Given the description of an element on the screen output the (x, y) to click on. 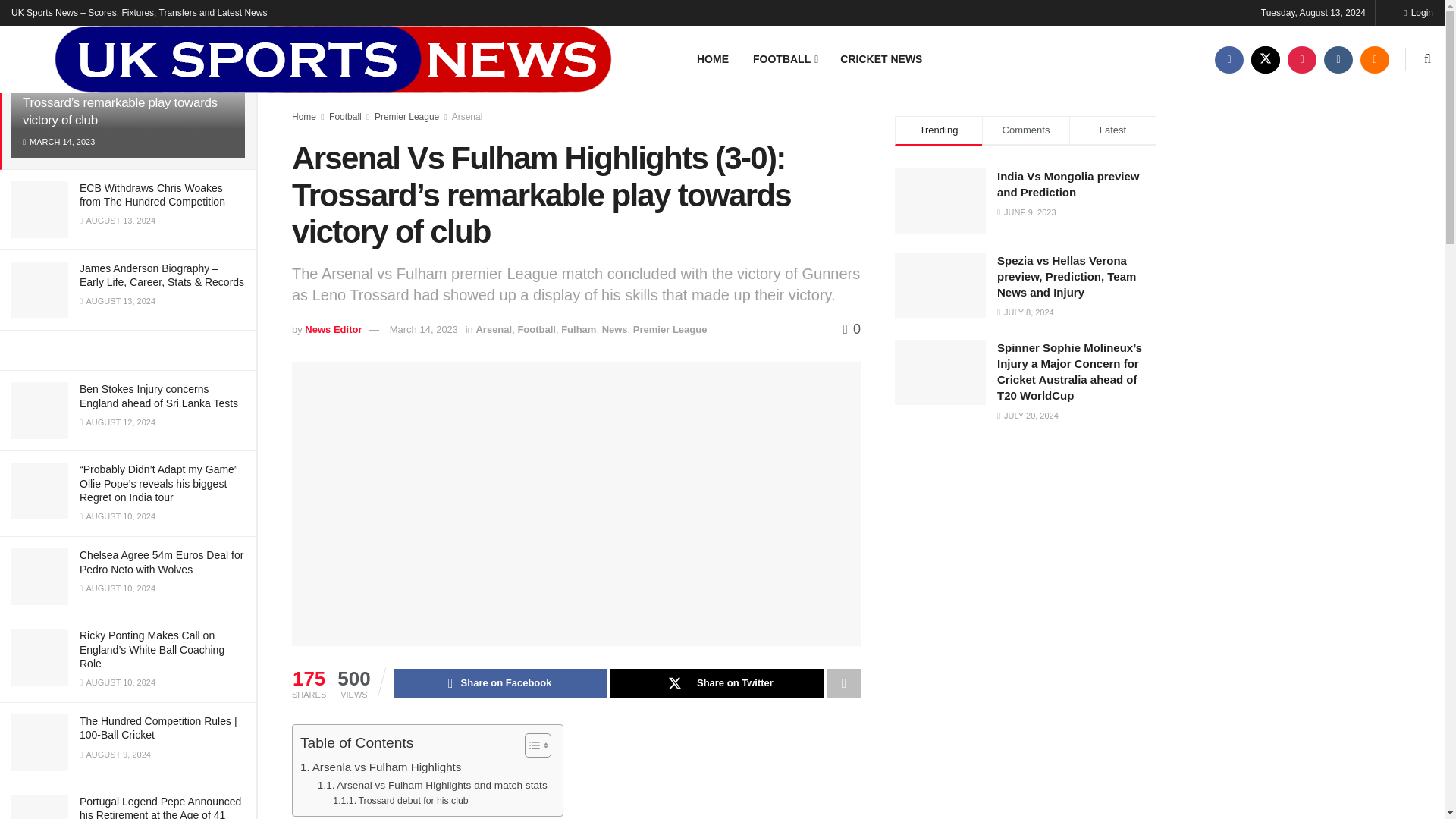
Filter (227, 13)
FOOTBALL (784, 58)
Arsenla vs Fulham Highlights (380, 767)
Ben Stokes Injury concerns England ahead of Sri Lanka Tests (159, 395)
HOME (712, 58)
Arsenal vs Fulham Highlights and match stats (432, 785)
ECB Withdraws Chris Woakes from The Hundred Competition (152, 194)
Login (1417, 12)
Chelsea Agree 54m Euros Deal for Pedro Neto with Wolves (161, 561)
